Given the description of an element on the screen output the (x, y) to click on. 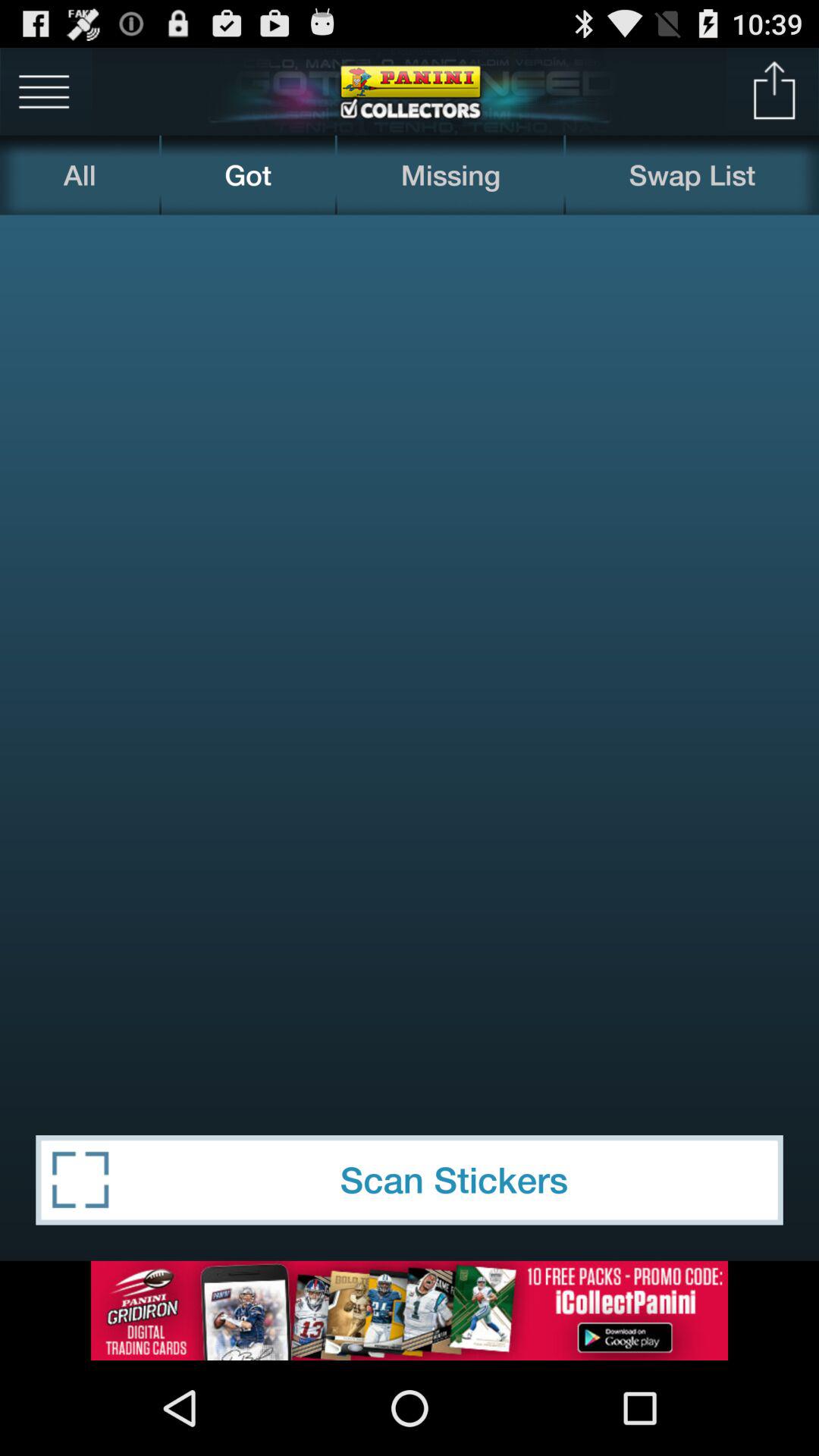
press item below scan stickers icon (409, 1310)
